Given the description of an element on the screen output the (x, y) to click on. 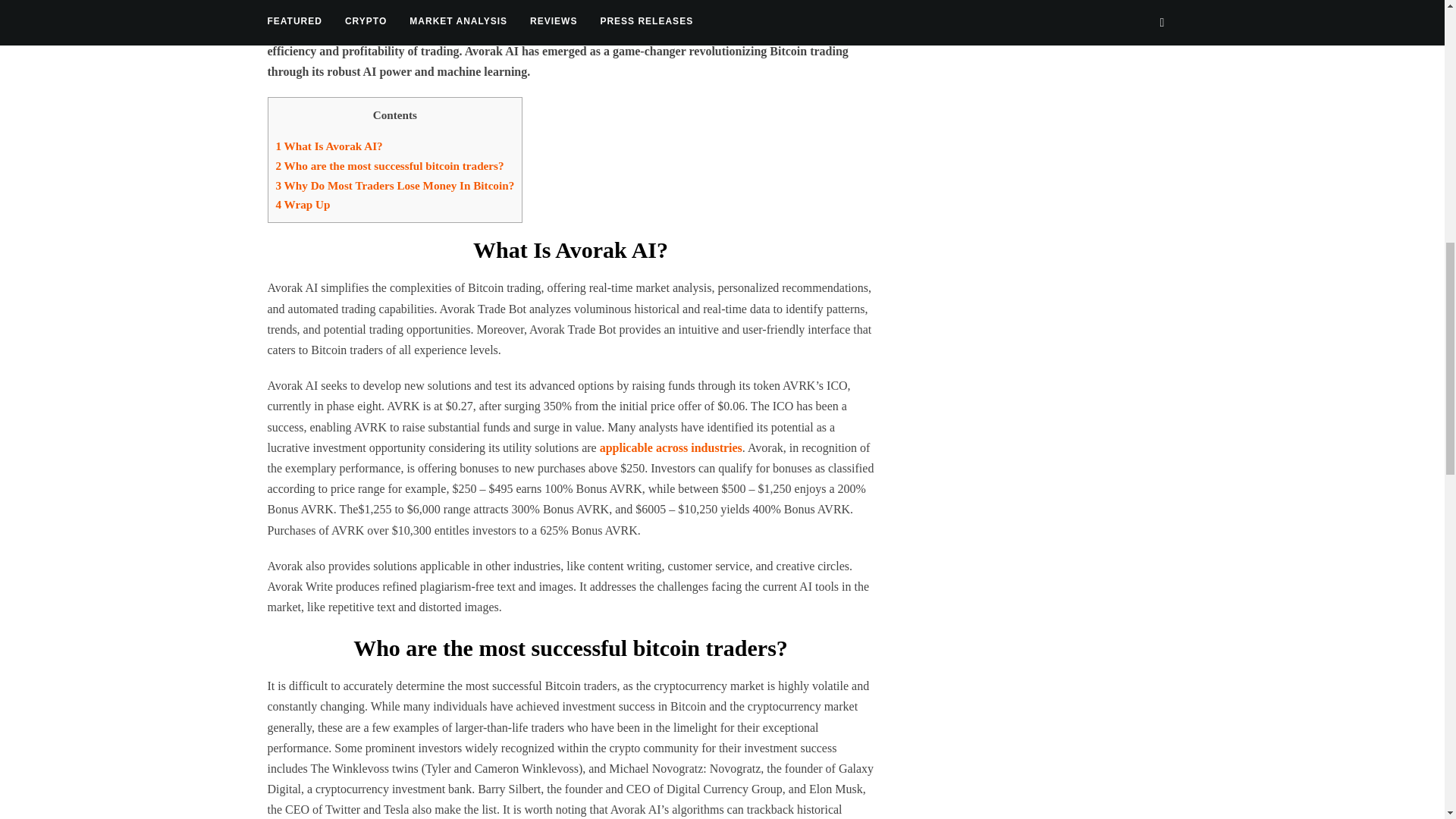
3 Why Do Most Traders Lose Money In Bitcoin? (395, 185)
applicable across industries (670, 447)
2 Who are the most successful bitcoin traders? (389, 164)
4 Wrap Up (303, 204)
1 What Is Avorak AI? (329, 145)
